Given the description of an element on the screen output the (x, y) to click on. 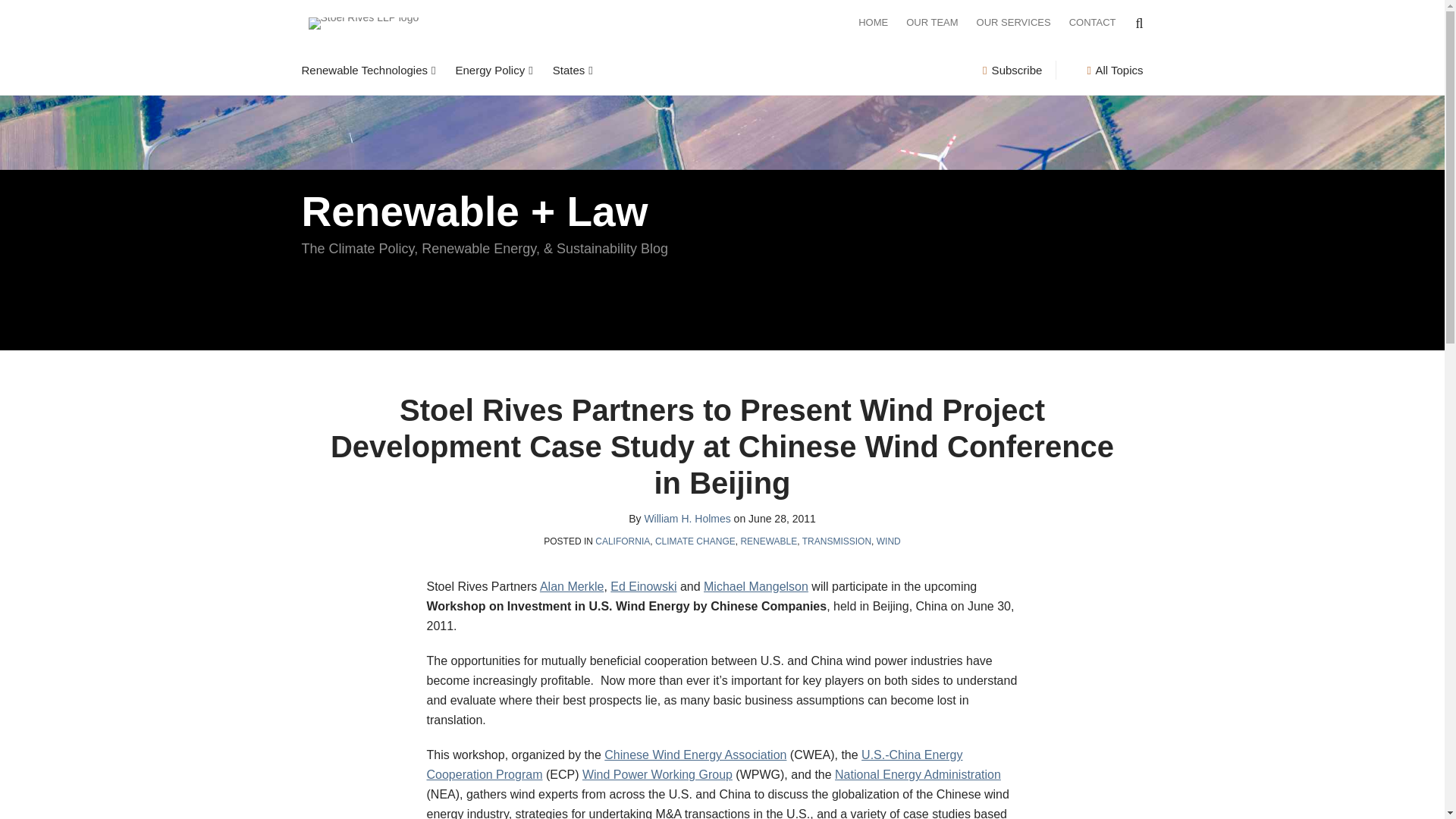
Energy Policy (489, 70)
Sub-Menu (528, 70)
OUR SERVICES (1013, 22)
Subscribe (1012, 70)
States (569, 70)
Renewable Technologies (364, 70)
Sub-Menu (431, 70)
All Topics (1114, 70)
HOME (873, 22)
OUR TEAM (931, 22)
CONTACT (1092, 22)
Sub-Menu (588, 70)
